Given the description of an element on the screen output the (x, y) to click on. 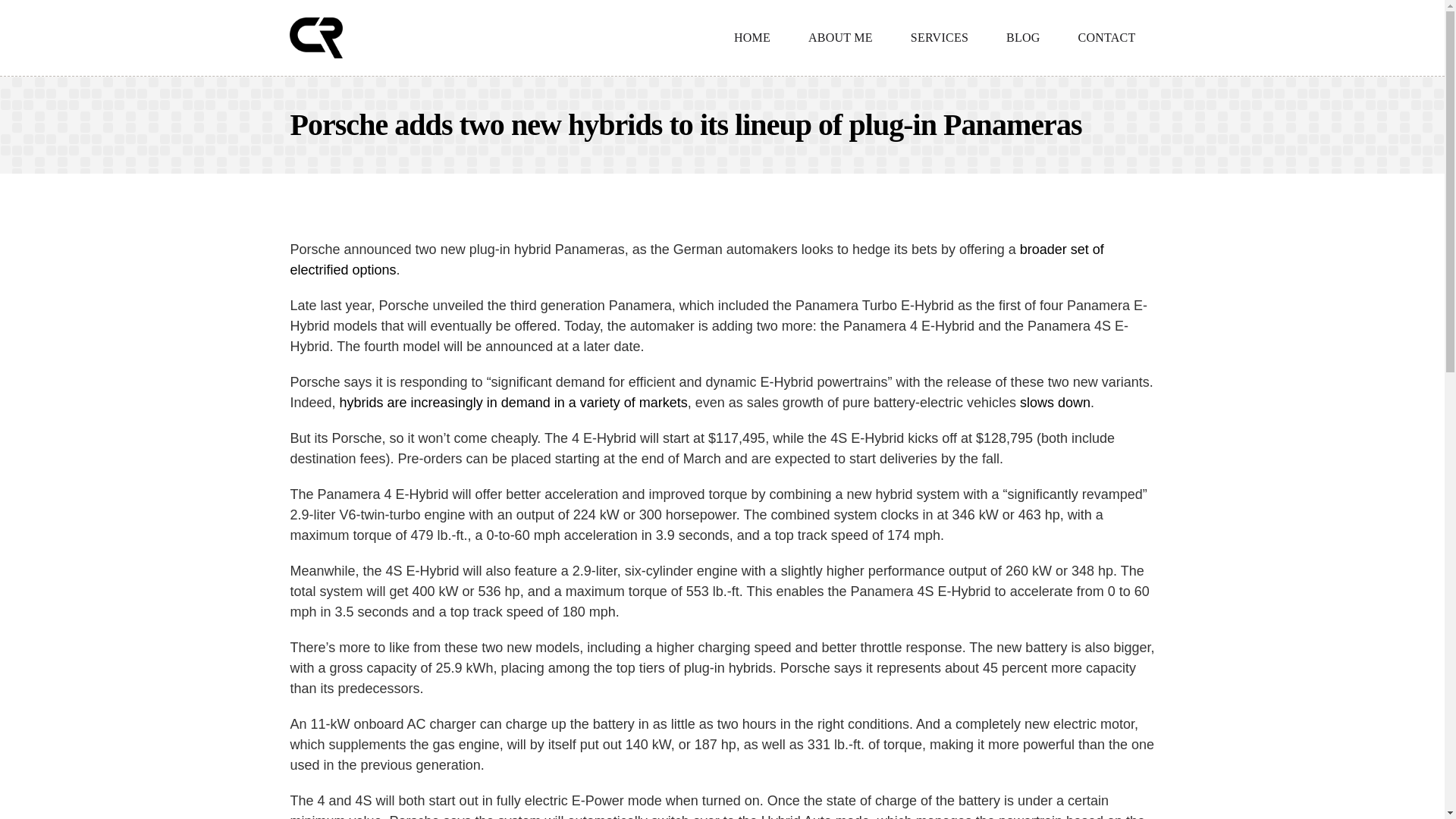
HOME (751, 38)
BLOG (1023, 38)
broader set of electrified options (696, 259)
SERVICES (939, 38)
ABOUT ME (840, 38)
hybrids are increasingly in demand (444, 402)
CONTACT (1106, 38)
in a variety of markets (620, 402)
slows down (1055, 402)
